Given the description of an element on the screen output the (x, y) to click on. 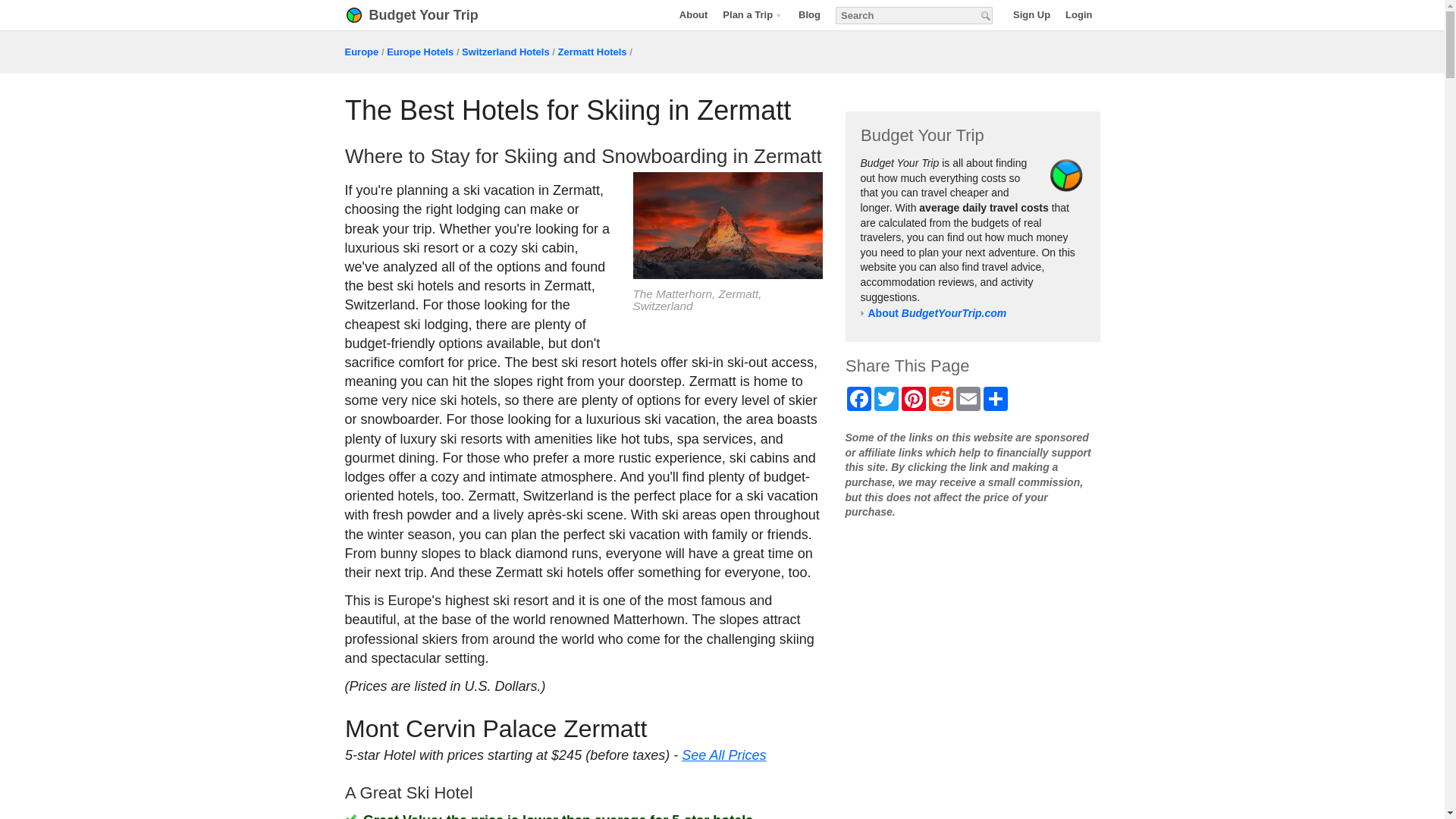
Switzerland Hotels (505, 51)
Mont Cervin Palace Zermatt (494, 728)
About (693, 14)
Sign Up (1031, 14)
Budget Your Trip (431, 14)
Blog (809, 14)
See All Prices (723, 754)
Europe Hotels (419, 51)
Plan a Trip (752, 14)
Europe (360, 51)
Login (1078, 14)
Zermatt Hotels (592, 51)
